Given the description of an element on the screen output the (x, y) to click on. 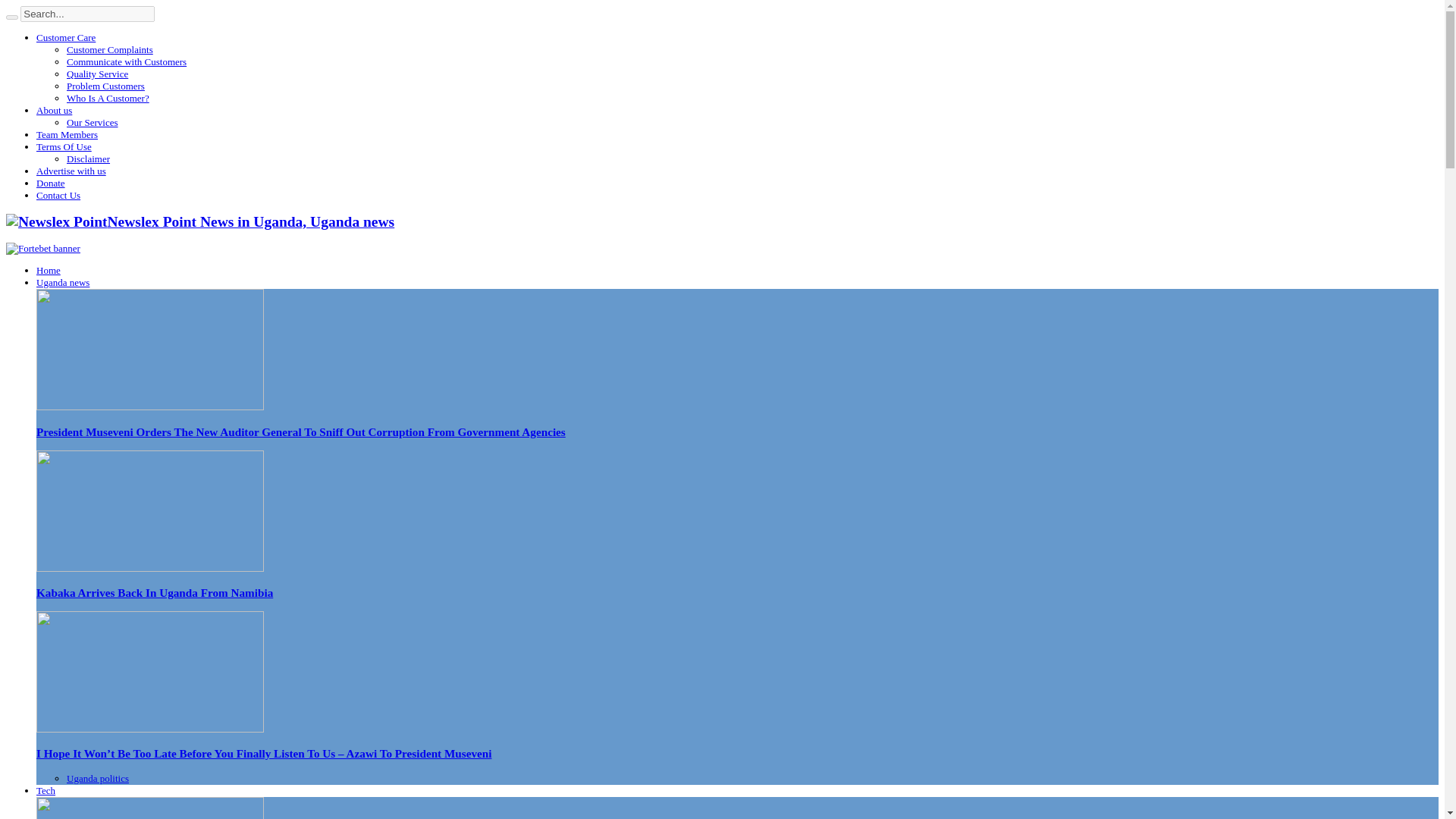
Disclaimer (88, 158)
Uganda politics (97, 778)
Home (48, 270)
Problem Customers (105, 85)
Customer Care (66, 37)
Customer Complaints (109, 49)
Communicate with Customers (126, 61)
Quality Service (97, 73)
Newslex Point News in Uganda, Uganda news (199, 221)
Kabaka Arrives Back In Uganda From Namibia (149, 568)
Team Members (66, 134)
Contact Us (58, 194)
